Given the description of an element on the screen output the (x, y) to click on. 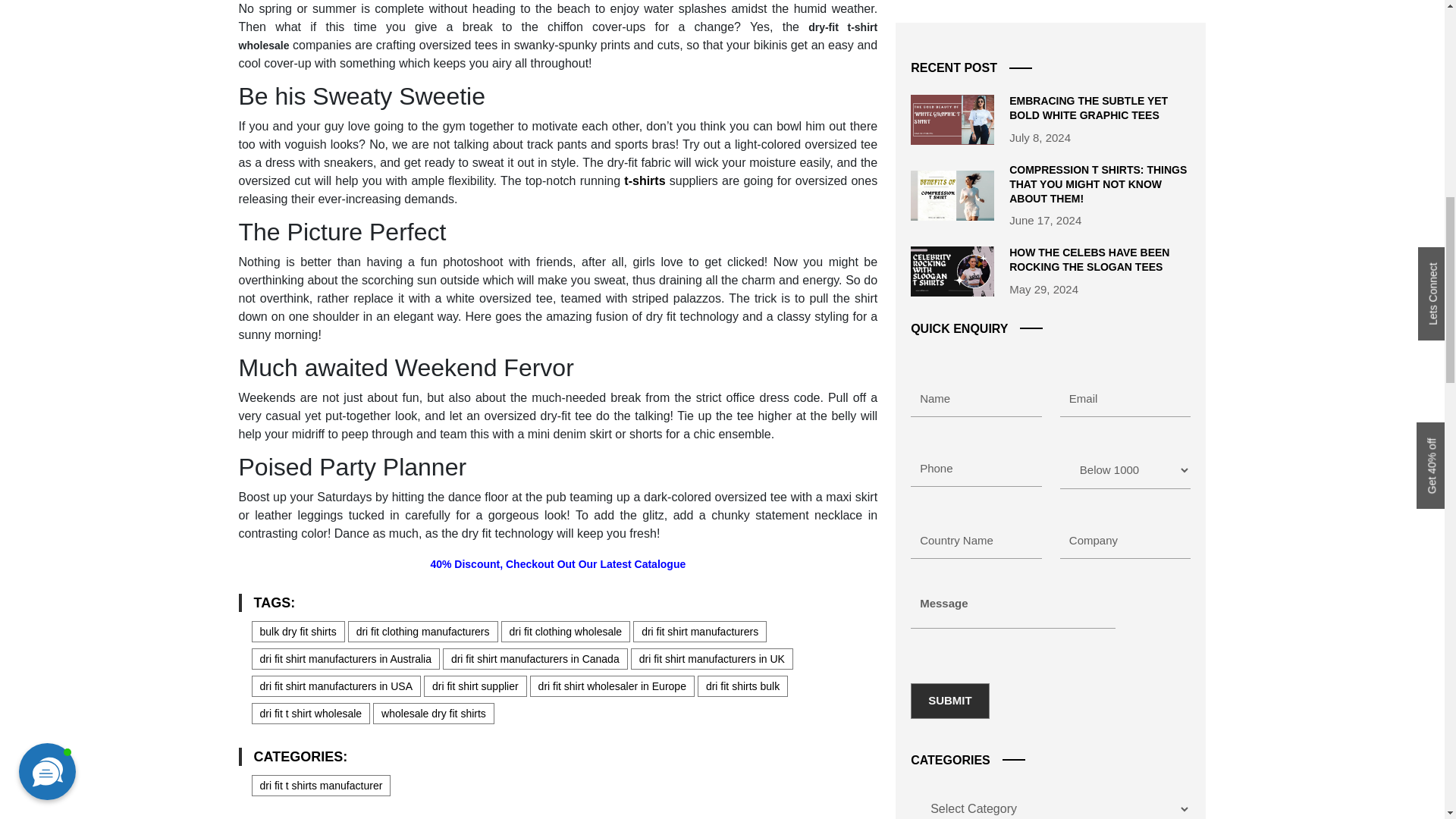
dri fit shirt manufacturers in Canada (534, 658)
dri fit clothing wholesale (565, 631)
dri fit shirt supplier (475, 685)
dri fit shirt manufacturers in Australia (345, 658)
dri fit shirt manufacturers (700, 631)
dri fit shirt manufacturers in UK (711, 658)
dri fit clothing manufacturers (422, 631)
dri fit shirt wholesaler in Europe (611, 685)
bulk dry fit shirts (298, 631)
t-shirts (644, 180)
dry-fit t-shirt wholesale (557, 36)
dri fit shirt manufacturers in USA (336, 685)
Submit (950, 11)
